Given the description of an element on the screen output the (x, y) to click on. 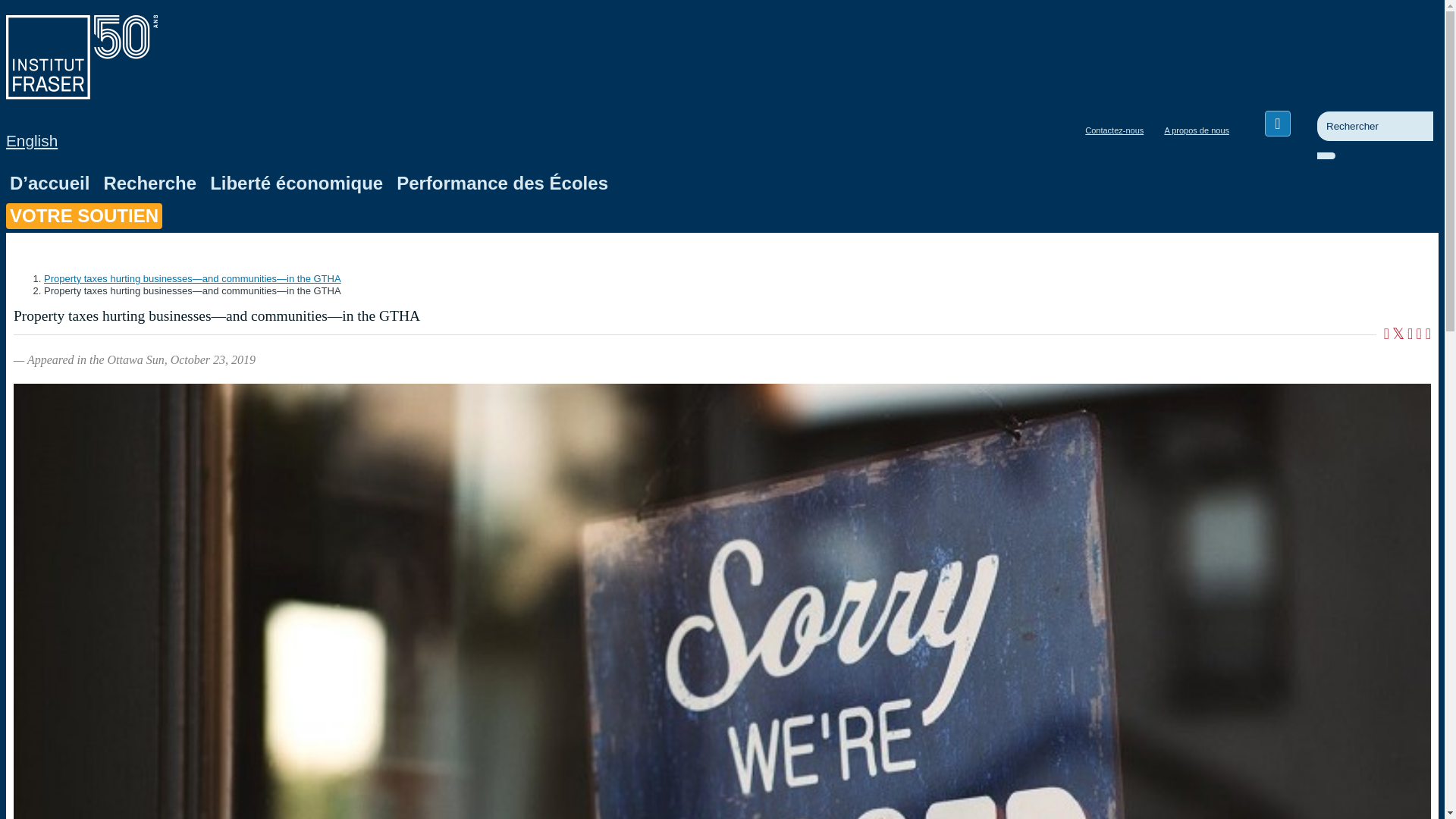
VOTRE SOUTIEN (83, 216)
Contactez-nous (1114, 130)
English (31, 140)
A propos de nous (1195, 130)
Rechercher (1349, 161)
Accueil (81, 93)
Recherche (149, 183)
Facebook (1277, 123)
Votre Soutien (83, 216)
